Given the description of an element on the screen output the (x, y) to click on. 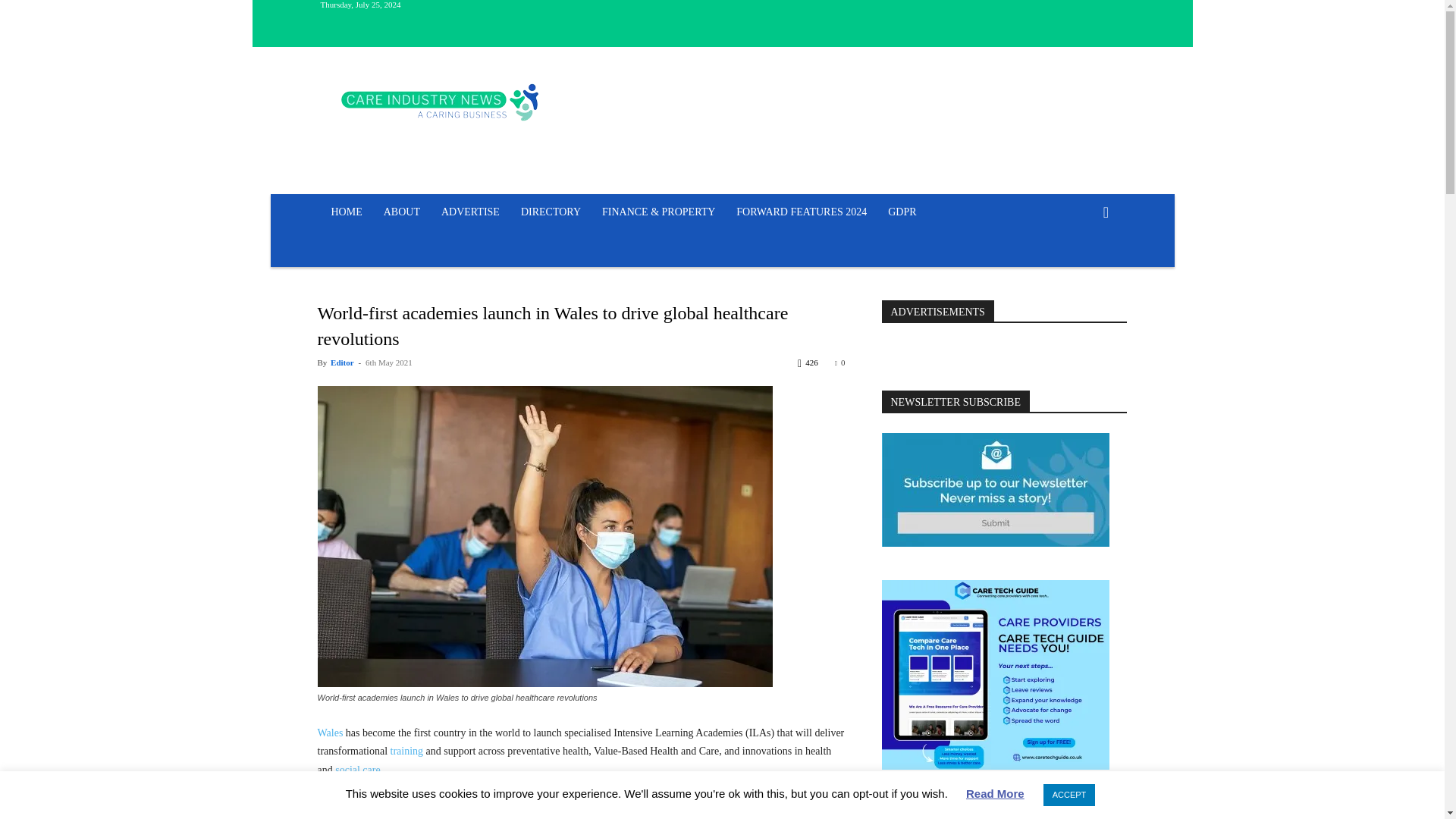
ABOUT (401, 212)
GDPR (901, 212)
Editor (341, 361)
social care (357, 769)
0 (839, 361)
FORWARD FEATURES 2024 (801, 212)
HOME (346, 212)
training (406, 750)
DIRECTORY (551, 212)
ADVERTISE (470, 212)
Care Industry News (439, 101)
Wales (329, 732)
